Given the description of an element on the screen output the (x, y) to click on. 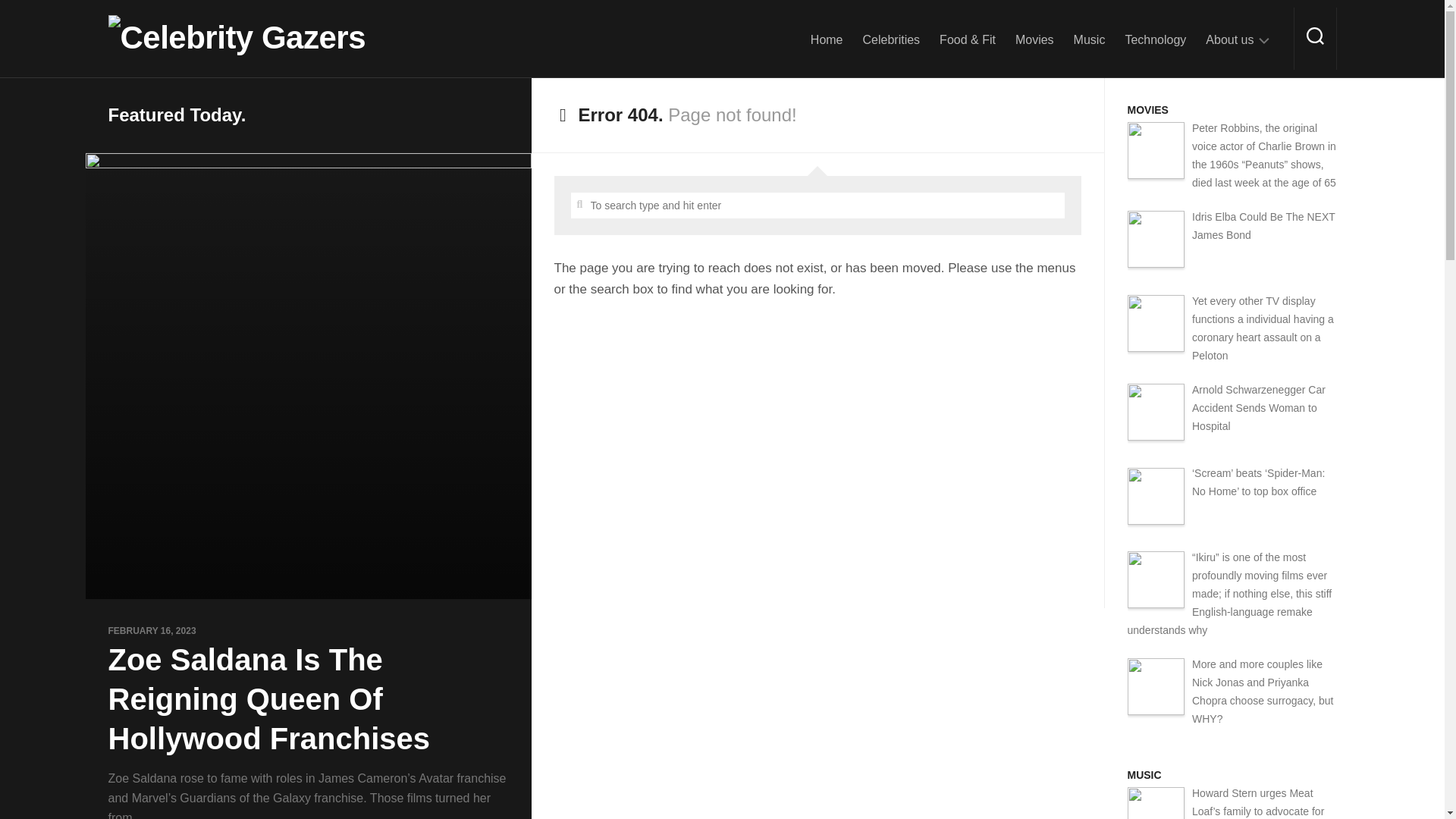
Arnold Schwarzenegger Car Accident Sends Woman to Hospital (1258, 408)
About us (1229, 39)
Zoe Saldana Is The Reigning Queen Of Hollywood Franchises (268, 698)
To search type and hit enter (817, 205)
Music (1089, 39)
Home (826, 39)
Technology (1155, 39)
Idris Elba Could Be The NEXT James Bond (1263, 225)
To search type and hit enter (817, 205)
